Given the description of an element on the screen output the (x, y) to click on. 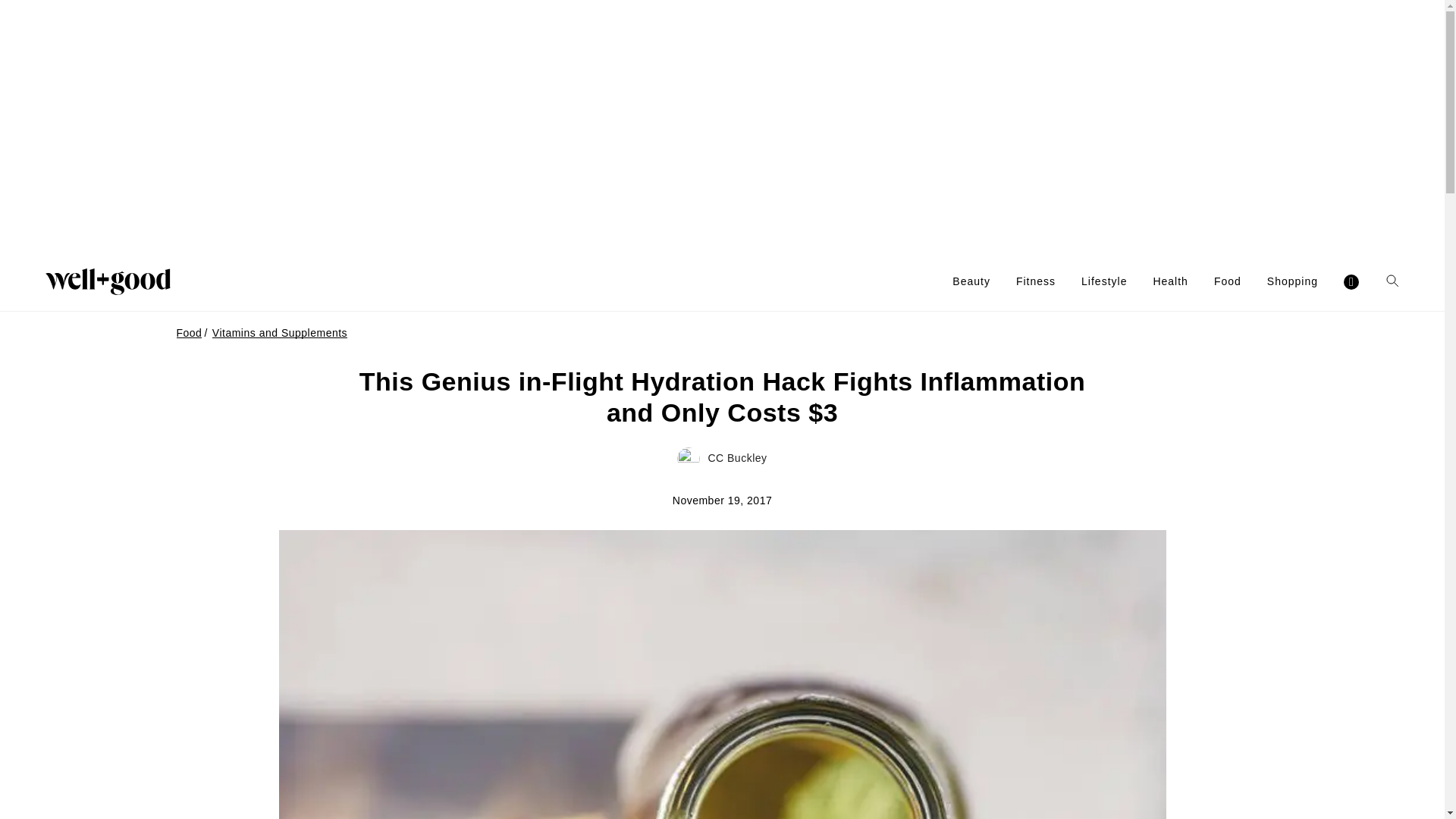
Lifestyle (1103, 281)
Food (1227, 281)
Beauty (971, 281)
Health (1170, 281)
Fitness (1035, 281)
Shopping (1291, 281)
